Given the description of an element on the screen output the (x, y) to click on. 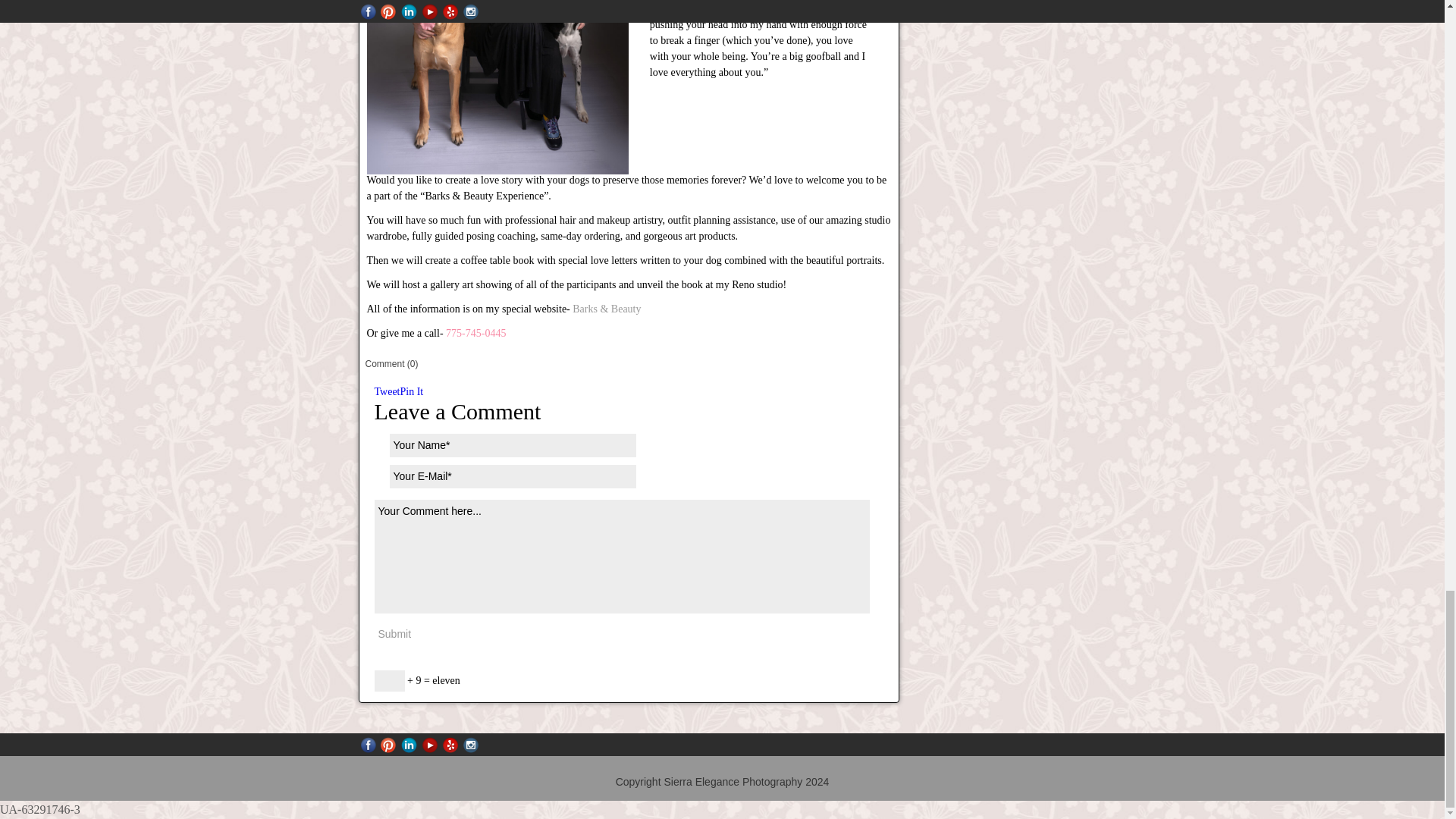
Comment (389, 363)
Pin It (411, 391)
Submit (394, 633)
Tweet (387, 391)
Submit (394, 633)
